Given the description of an element on the screen output the (x, y) to click on. 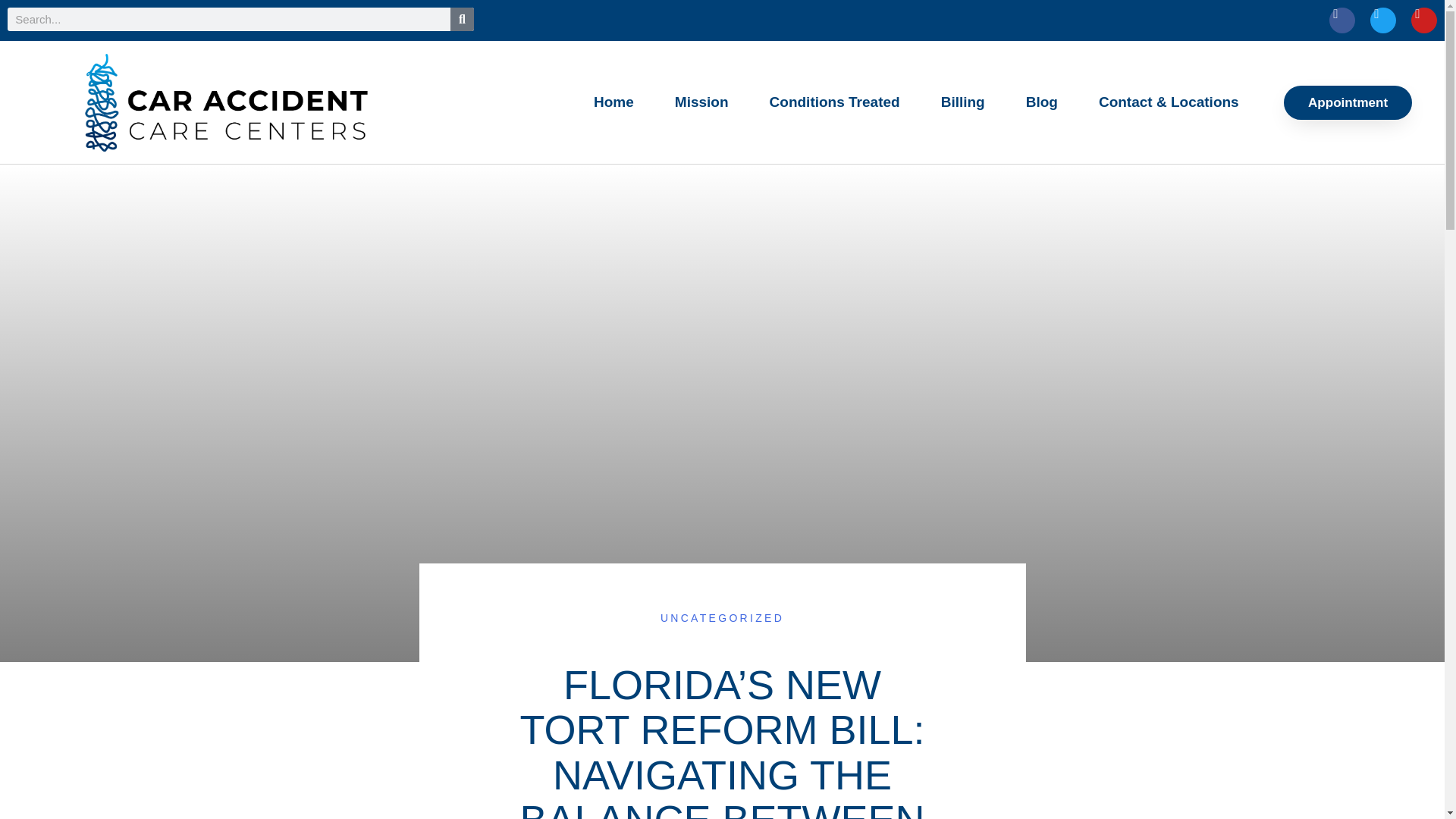
Conditions Treated (834, 102)
Facebook (1342, 20)
UNCATEGORIZED (722, 617)
Youtube (1423, 20)
Search (461, 19)
Appointment (1348, 101)
Mission (701, 102)
Home (613, 102)
Billing (963, 102)
Twitter (1383, 20)
